Given the description of an element on the screen output the (x, y) to click on. 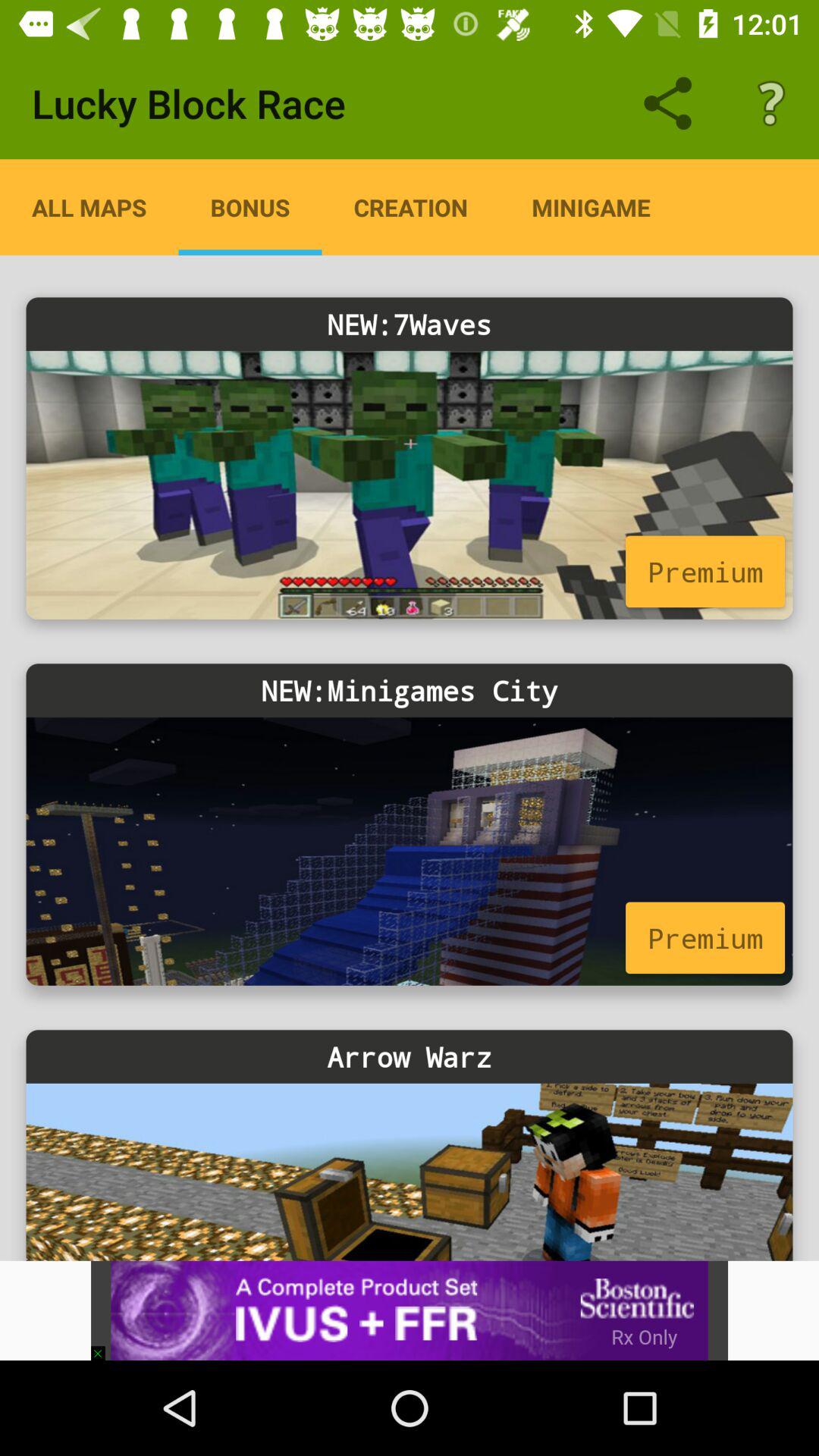
click the icon above the new:7waves item (249, 207)
